Given the description of an element on the screen output the (x, y) to click on. 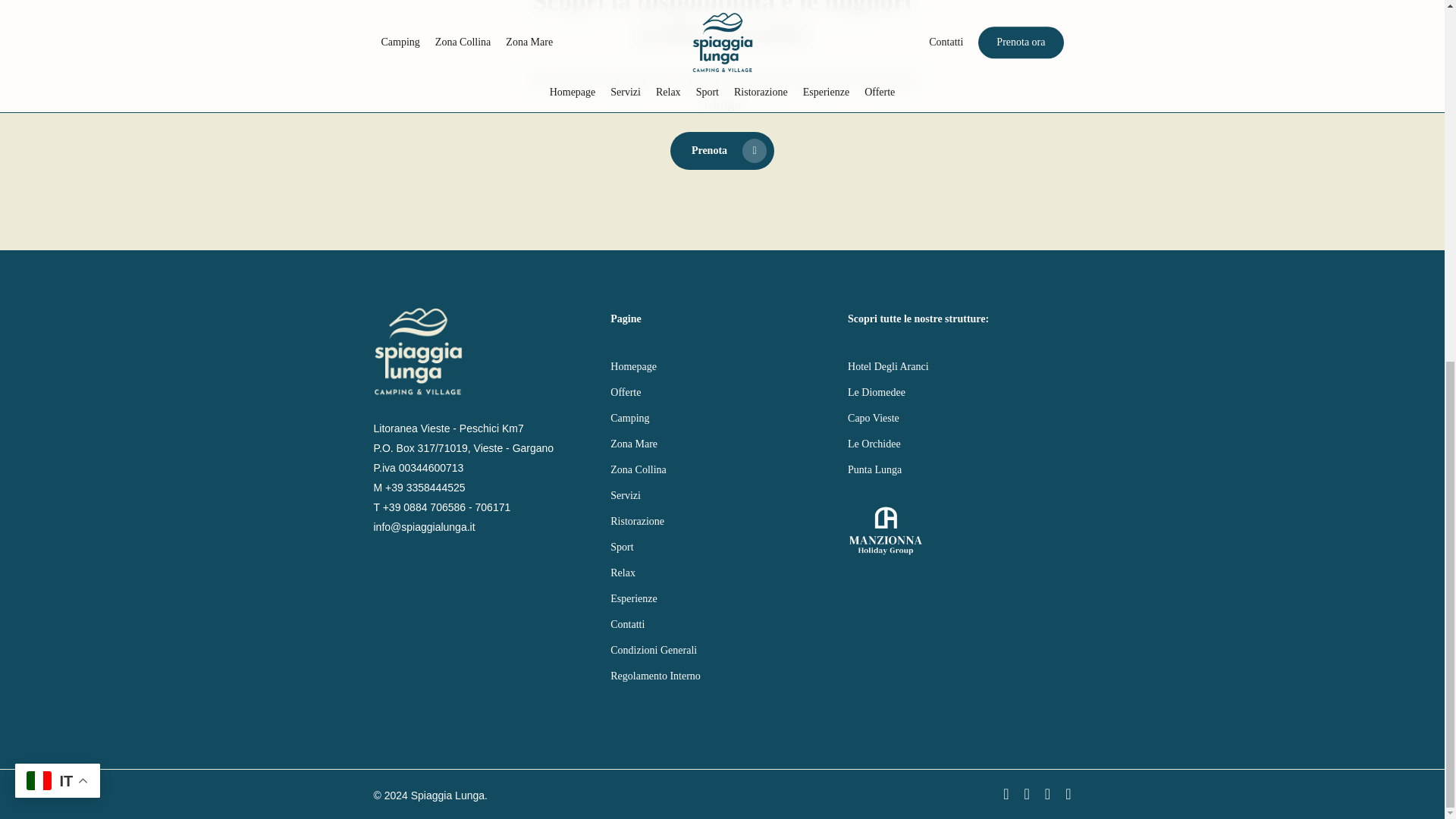
Servizi (721, 496)
Regolamento Interno (721, 676)
Offerte (721, 392)
Relax (721, 573)
Punta Lunga (958, 469)
facebook (1006, 793)
Homepage (721, 366)
Hotel Degli Aranci (958, 366)
Zona Mare (721, 444)
Sport (721, 547)
Condizioni Generali (721, 650)
Le Orchidee (958, 444)
Prenota (721, 150)
Capo Vieste (958, 418)
Camping (721, 418)
